Given the description of an element on the screen output the (x, y) to click on. 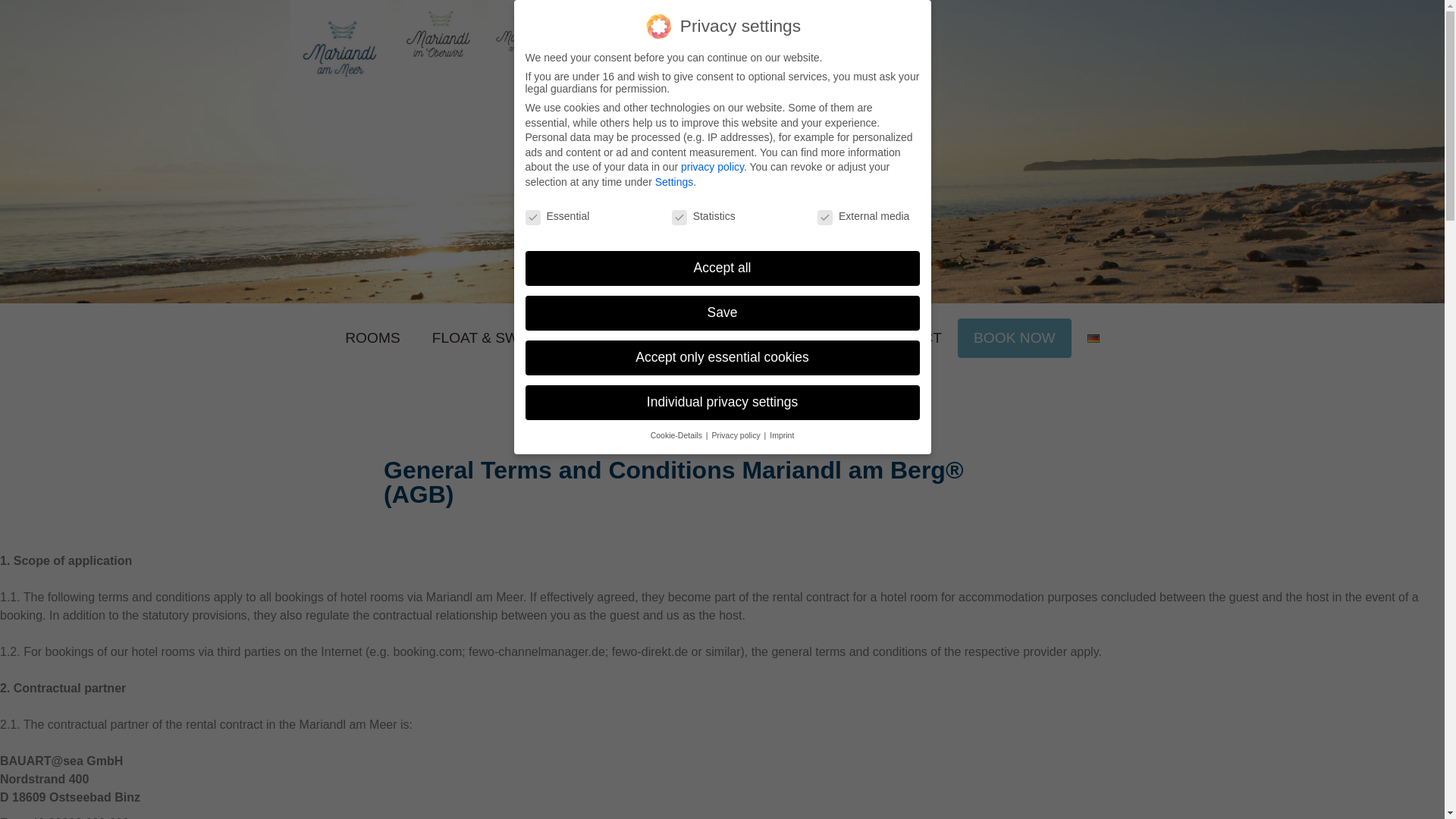
CONTACT (906, 338)
BOOK NOW (1014, 338)
PEAK (821, 338)
FREIRAUM (731, 338)
ROOMS (372, 338)
